Given the description of an element on the screen output the (x, y) to click on. 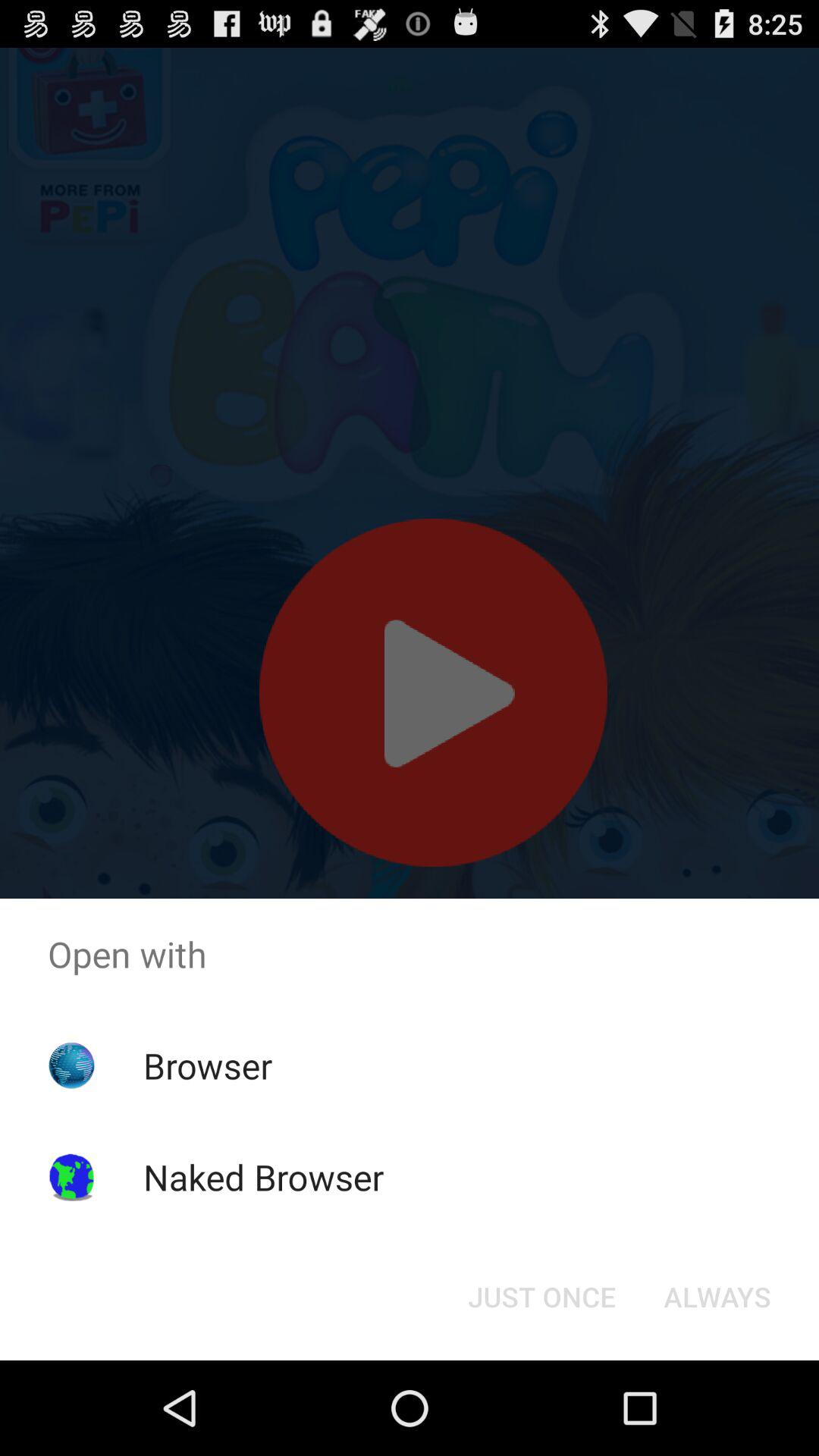
choose app below the browser icon (263, 1176)
